Given the description of an element on the screen output the (x, y) to click on. 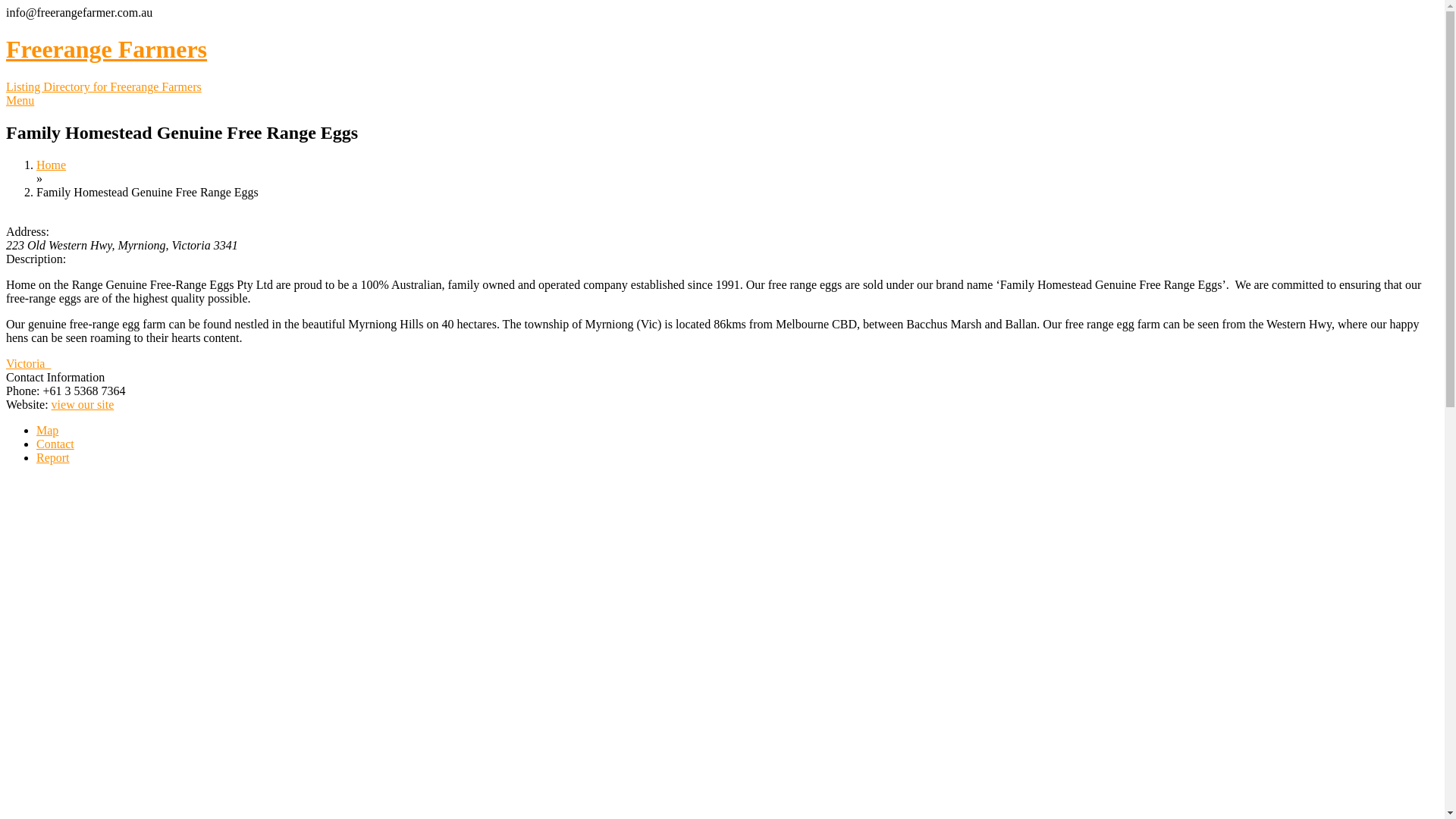
Report Element type: text (52, 457)
Contact Element type: text (55, 443)
Victoria   Element type: text (28, 363)
Menu Element type: text (20, 100)
view our site Element type: text (82, 404)
Freerange Farmers
Listing Directory for Freerange Farmers Element type: text (722, 63)
Home Element type: text (50, 164)
Map Element type: text (47, 429)
